Given the description of an element on the screen output the (x, y) to click on. 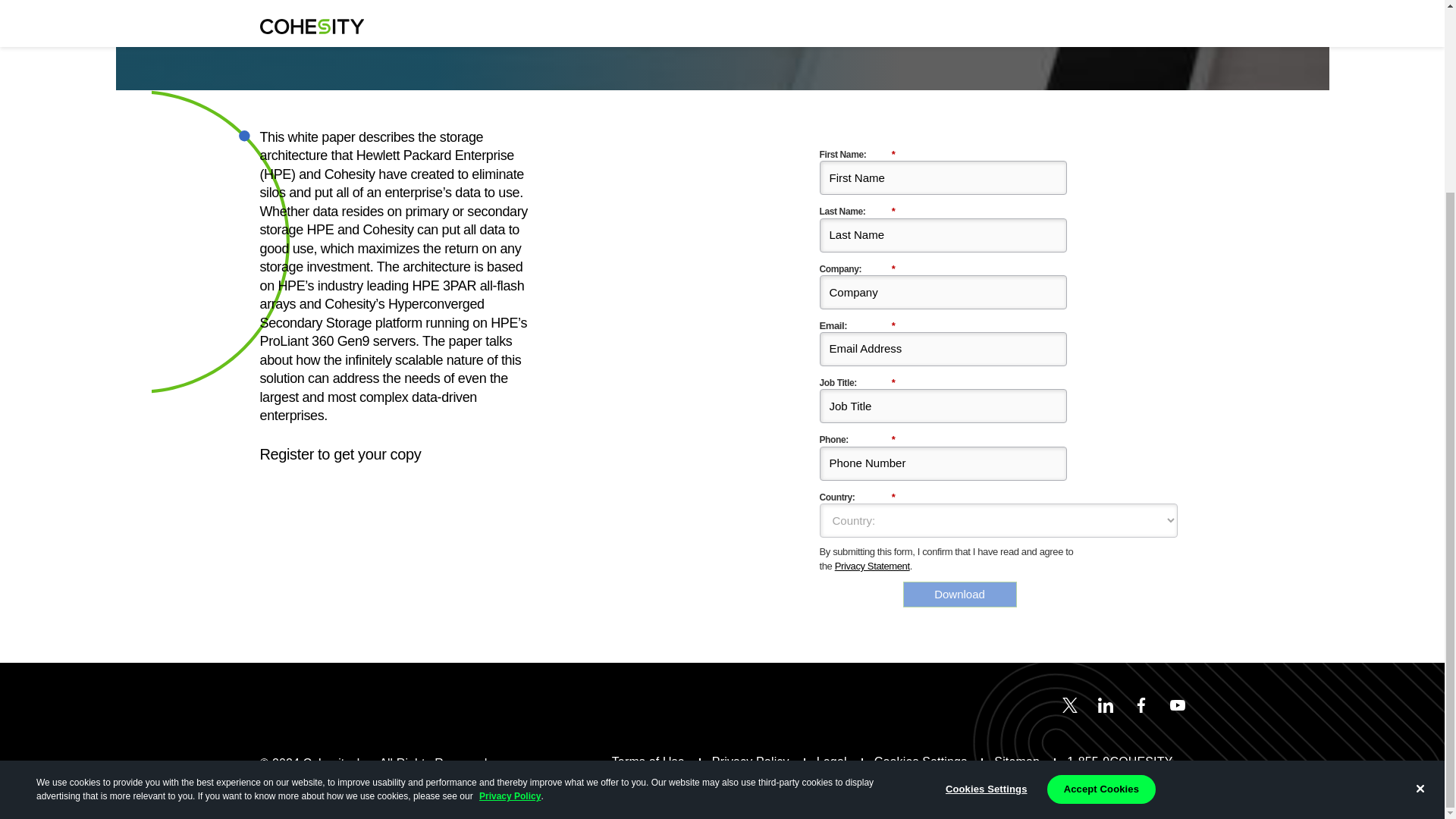
Privacy Policy (509, 553)
1-855-9COHESITY (1119, 761)
Terms of Use (647, 761)
Privacy Statement (872, 565)
Privacy Policy (750, 761)
Cookies Settings (986, 547)
Accept Cookies (1101, 547)
Legal (831, 761)
Sitemap (1016, 761)
Download (959, 594)
